Given the description of an element on the screen output the (x, y) to click on. 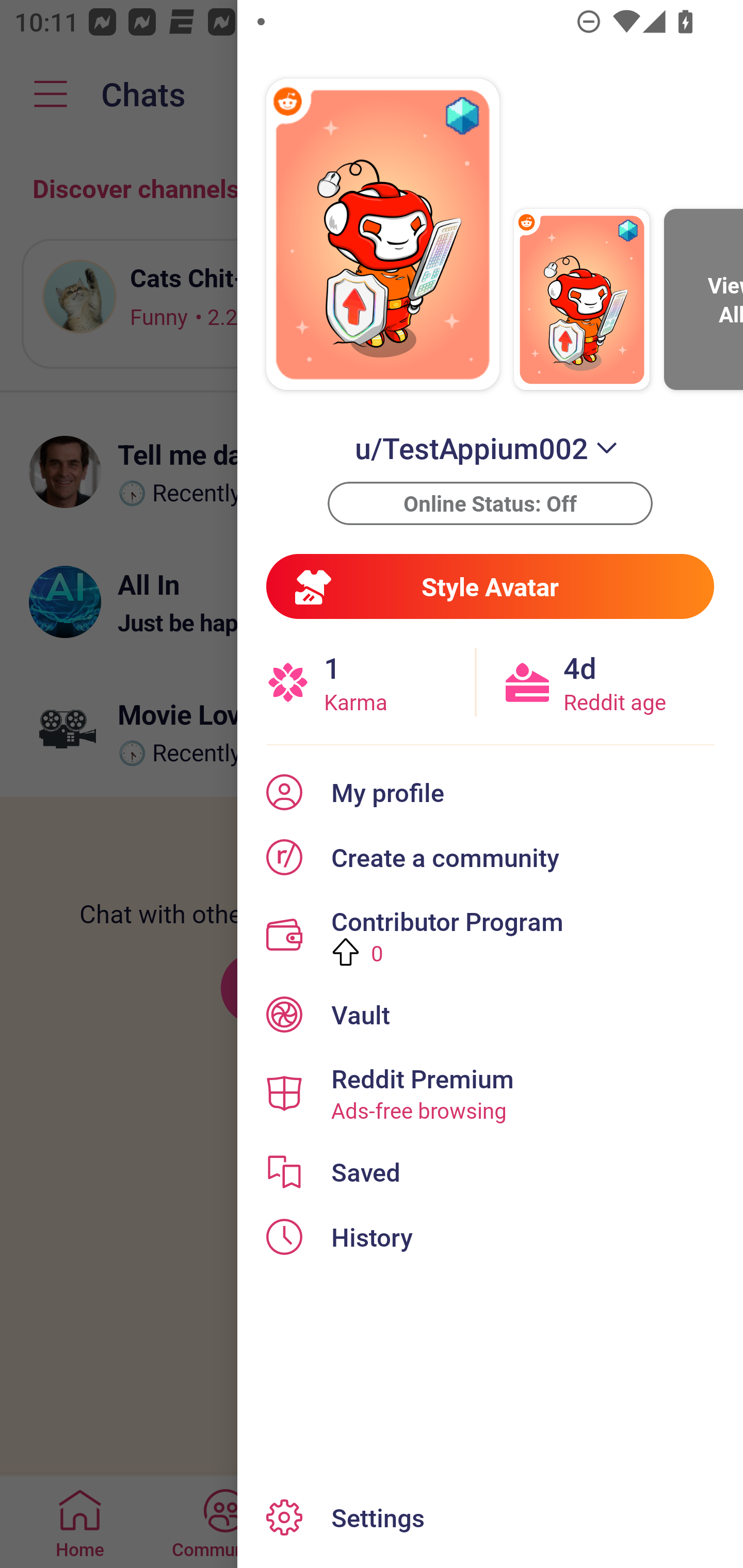
u/TestAppium002 (489, 447)
Online Status: Off (489, 503)
Style Avatar (489, 586)
1 Karma 1 Karma (369, 681)
My profile (490, 792)
Create a community (490, 856)
Contributor Program Contributor Program 0 (490, 935)
Vault (490, 1014)
Saved (490, 1171)
History (490, 1237)
Settings (490, 1517)
